Given the description of an element on the screen output the (x, y) to click on. 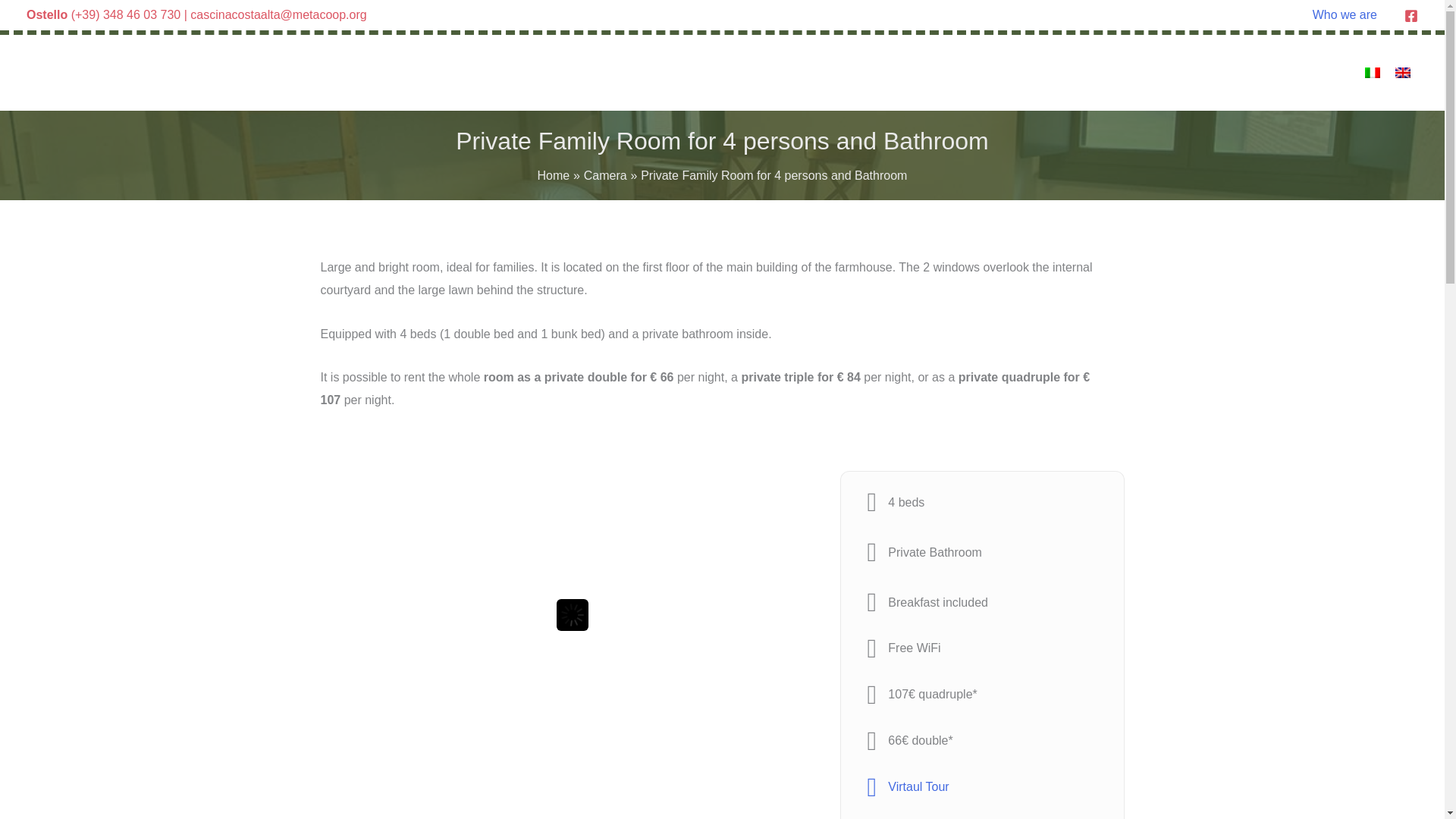
Costa Alta Hostel (869, 72)
Cascina Costa Alta (1008, 72)
Contacts (1302, 72)
Activities (1119, 72)
Who we are (1344, 15)
Events (1186, 72)
Home (777, 72)
News (1239, 72)
